Given the description of an element on the screen output the (x, y) to click on. 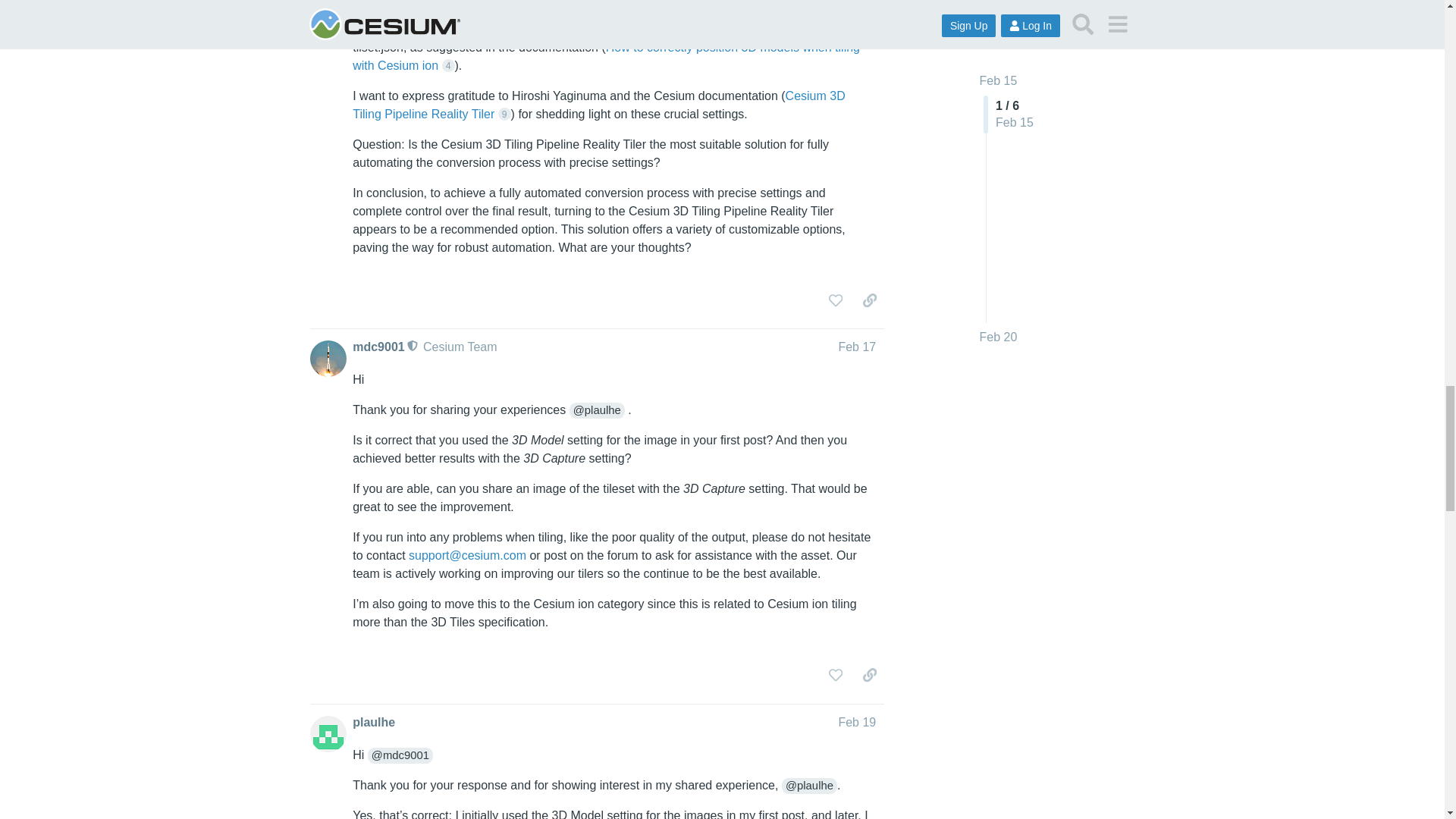
mdc9001 (378, 347)
Feb 17 (857, 346)
Cesium 3D Tiling Pipeline Reality Tiler 9 (598, 104)
